Given the description of an element on the screen output the (x, y) to click on. 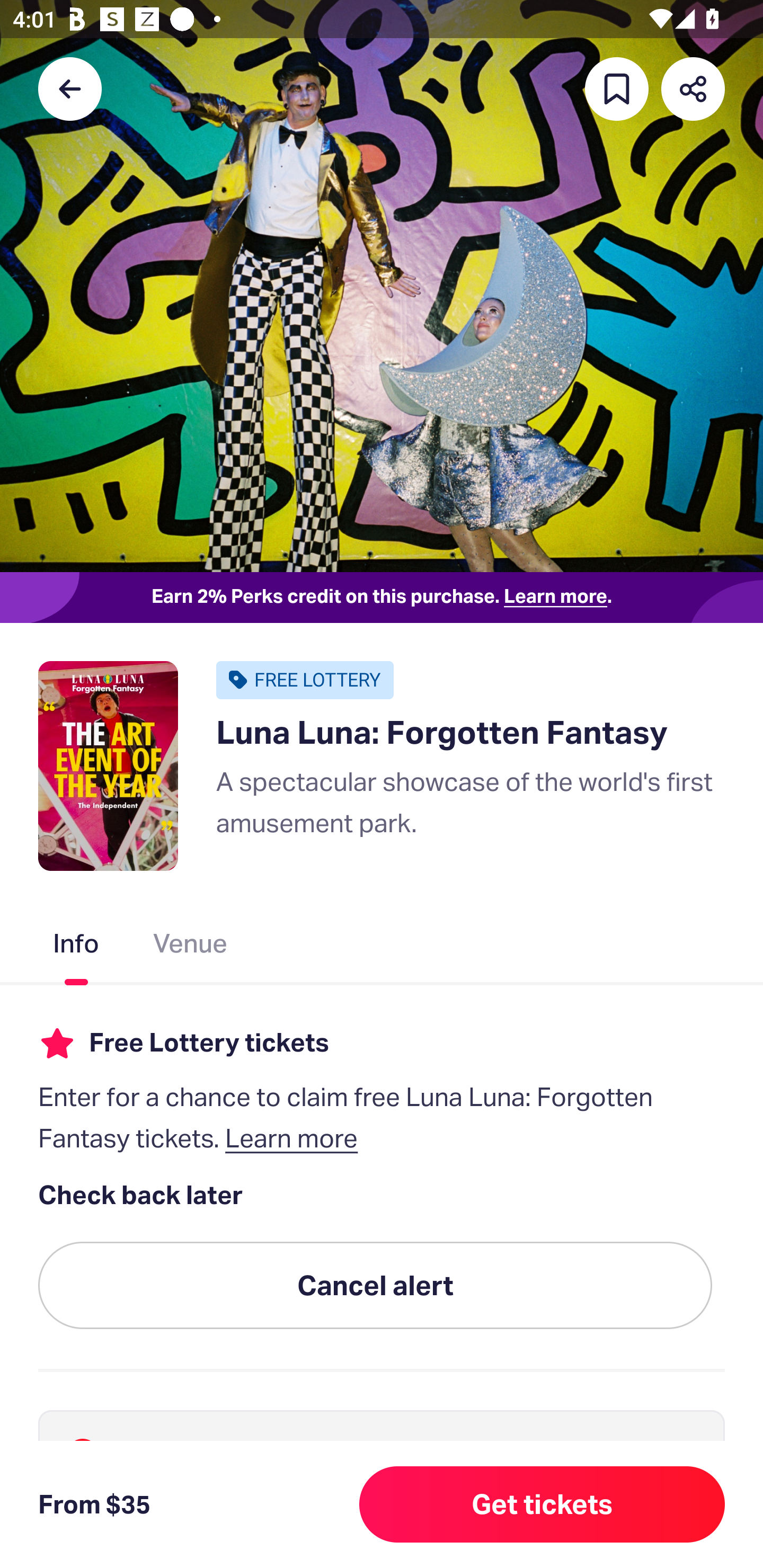
Earn 2% Perks credit on this purchase. Learn more. (381, 597)
Venue (190, 946)
Cancel alert (374, 1286)
Get tickets (541, 1504)
